Given the description of an element on the screen output the (x, y) to click on. 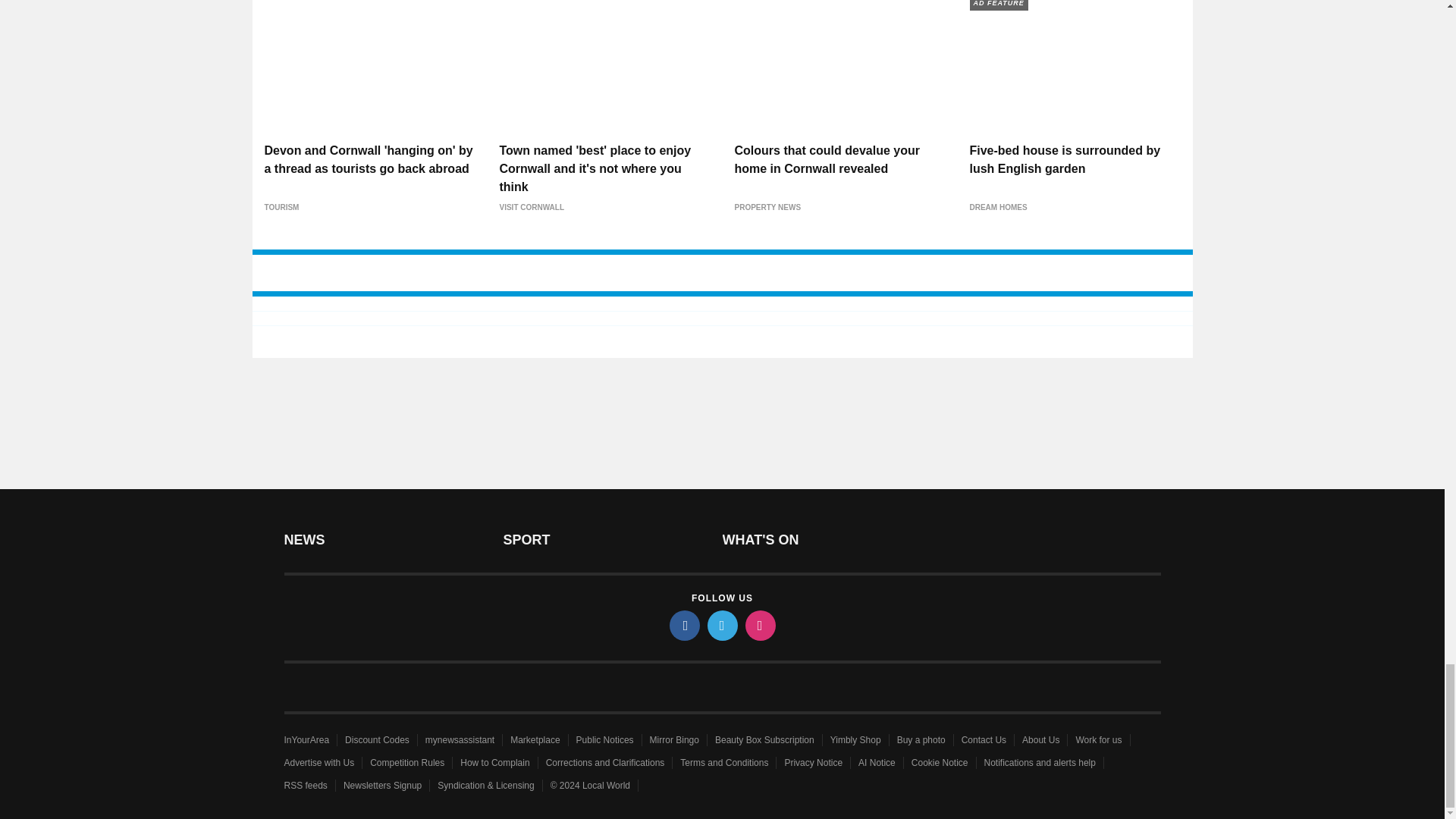
instagram (759, 625)
twitter (721, 625)
facebook (683, 625)
